Given the description of an element on the screen output the (x, y) to click on. 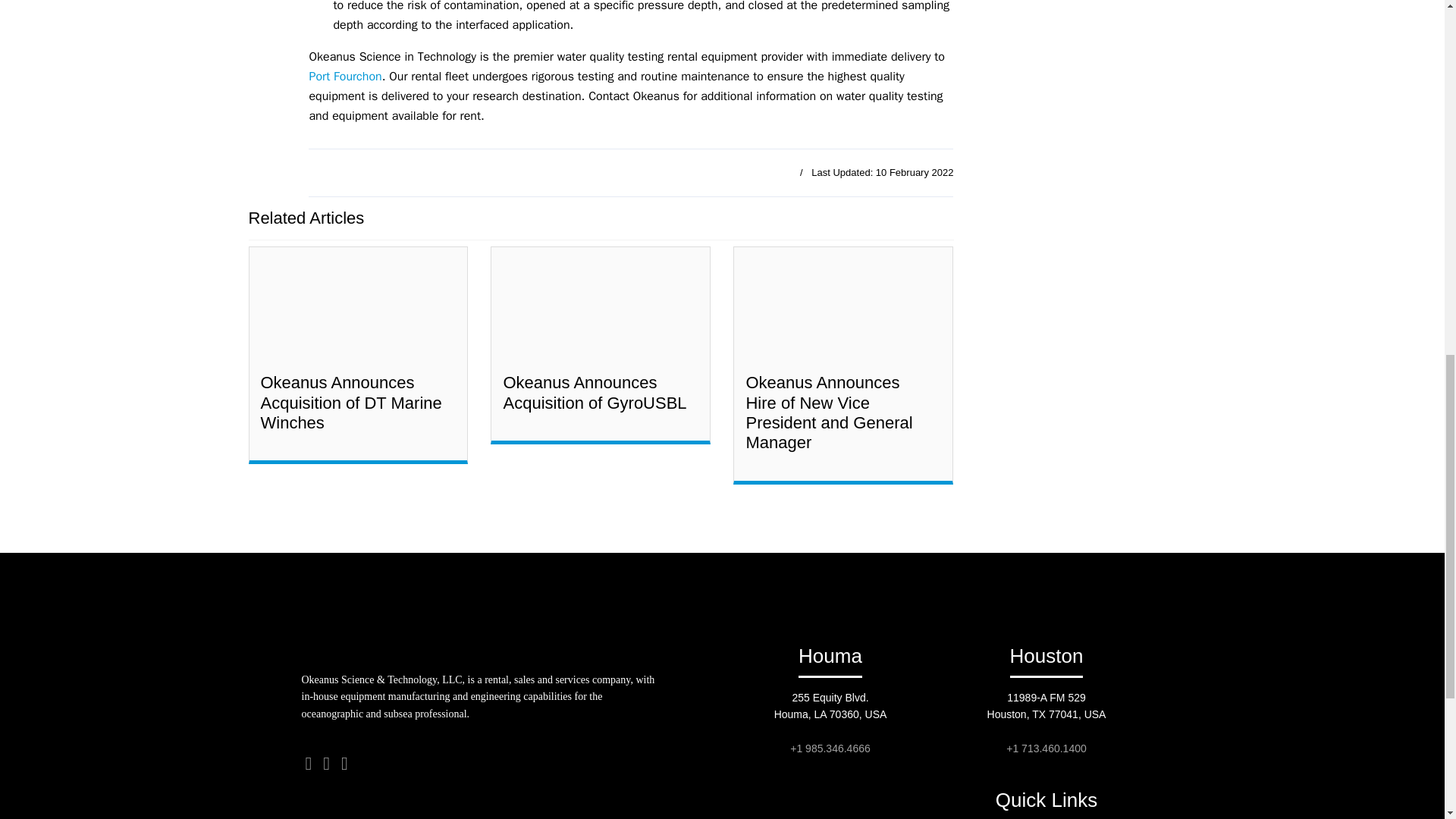
Okeanus Announces Acquisition of DT Marine Winches (351, 402)
Port Fourchon (344, 76)
Okeanus Announces Acquisition of GyroUSBL (593, 392)
